Given the description of an element on the screen output the (x, y) to click on. 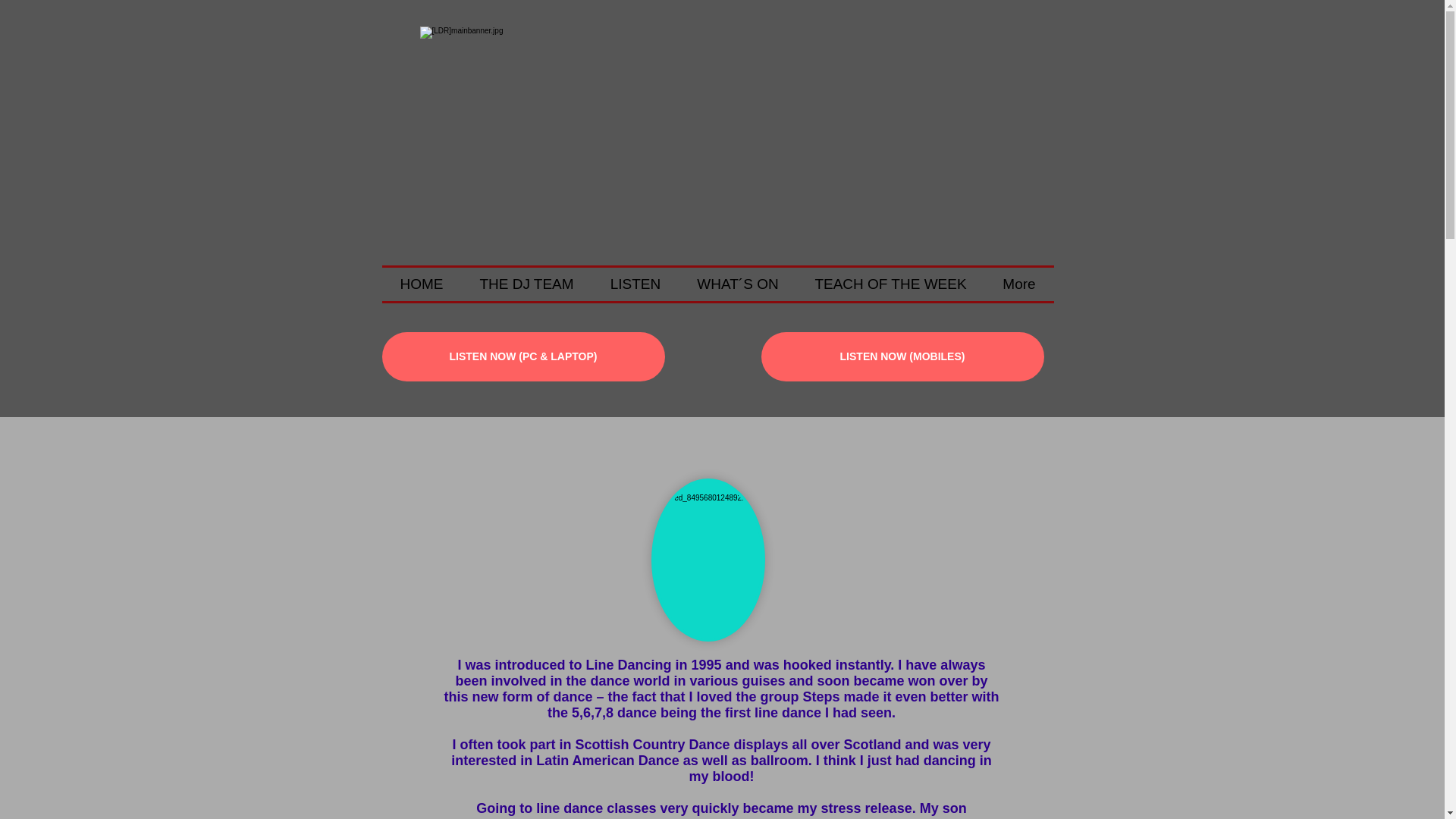
HOME (421, 284)
THE DJ TEAM (526, 284)
TEACH OF THE WEEK (890, 284)
LISTEN (634, 284)
